Given the description of an element on the screen output the (x, y) to click on. 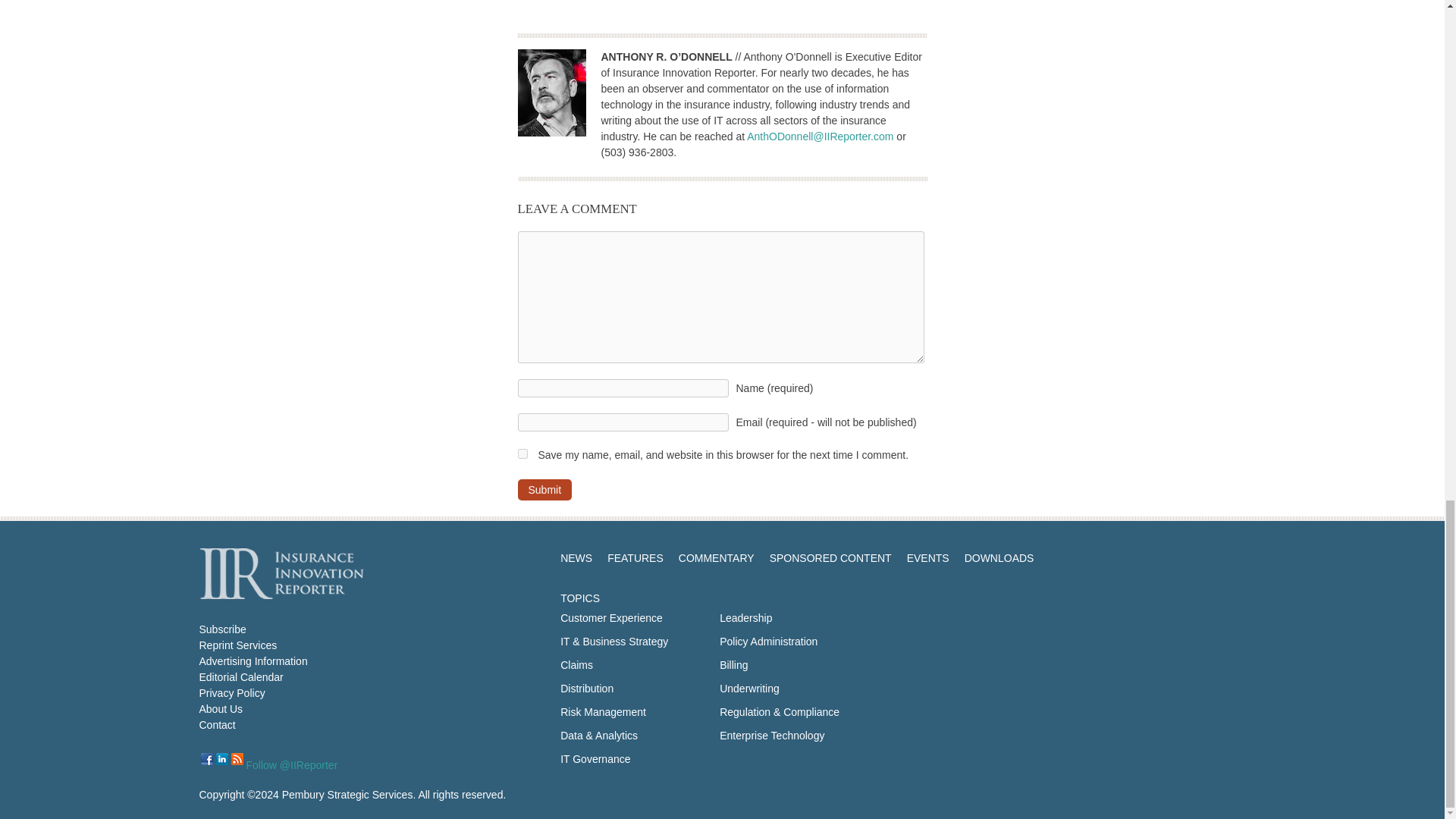
Friend me on Facebook (206, 758)
Advertising Information (252, 661)
Submit (544, 489)
Submit (544, 489)
yes (521, 453)
Subscribe (222, 629)
RSS Feed (236, 758)
Follow my company on LinkedIn (221, 758)
Editorial Calendar (240, 676)
Privacy Policy (231, 693)
